Given the description of an element on the screen output the (x, y) to click on. 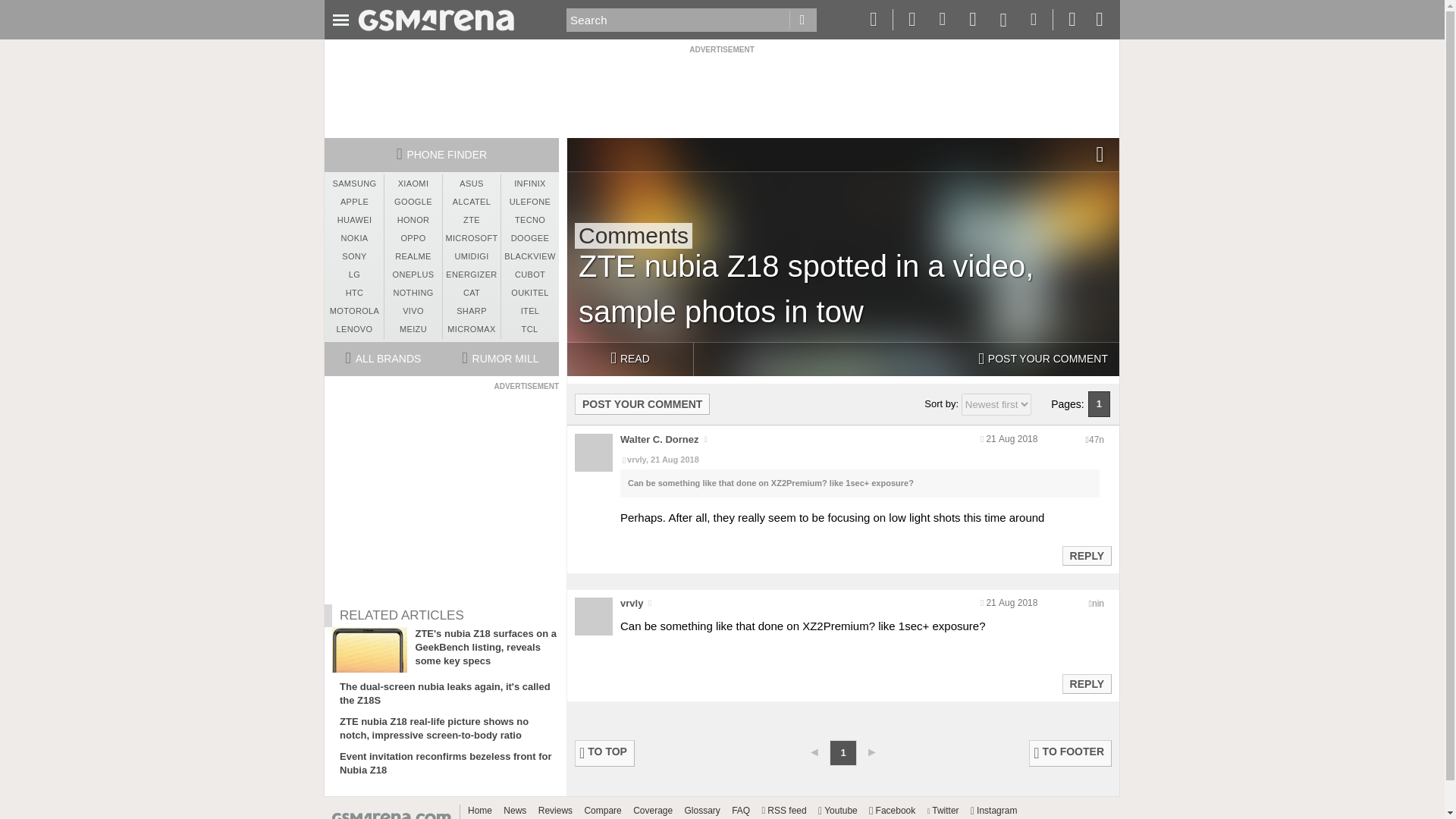
POST YOUR COMMENT (642, 403)
TO TOP (604, 753)
vrvly (631, 603)
Sort comments by (995, 404)
Walter C. Dornez (659, 439)
Reply to this post (1086, 555)
Go (802, 19)
Encoded anonymized location (1097, 603)
Go (802, 19)
POST YOUR COMMENT (1042, 359)
